Given the description of an element on the screen output the (x, y) to click on. 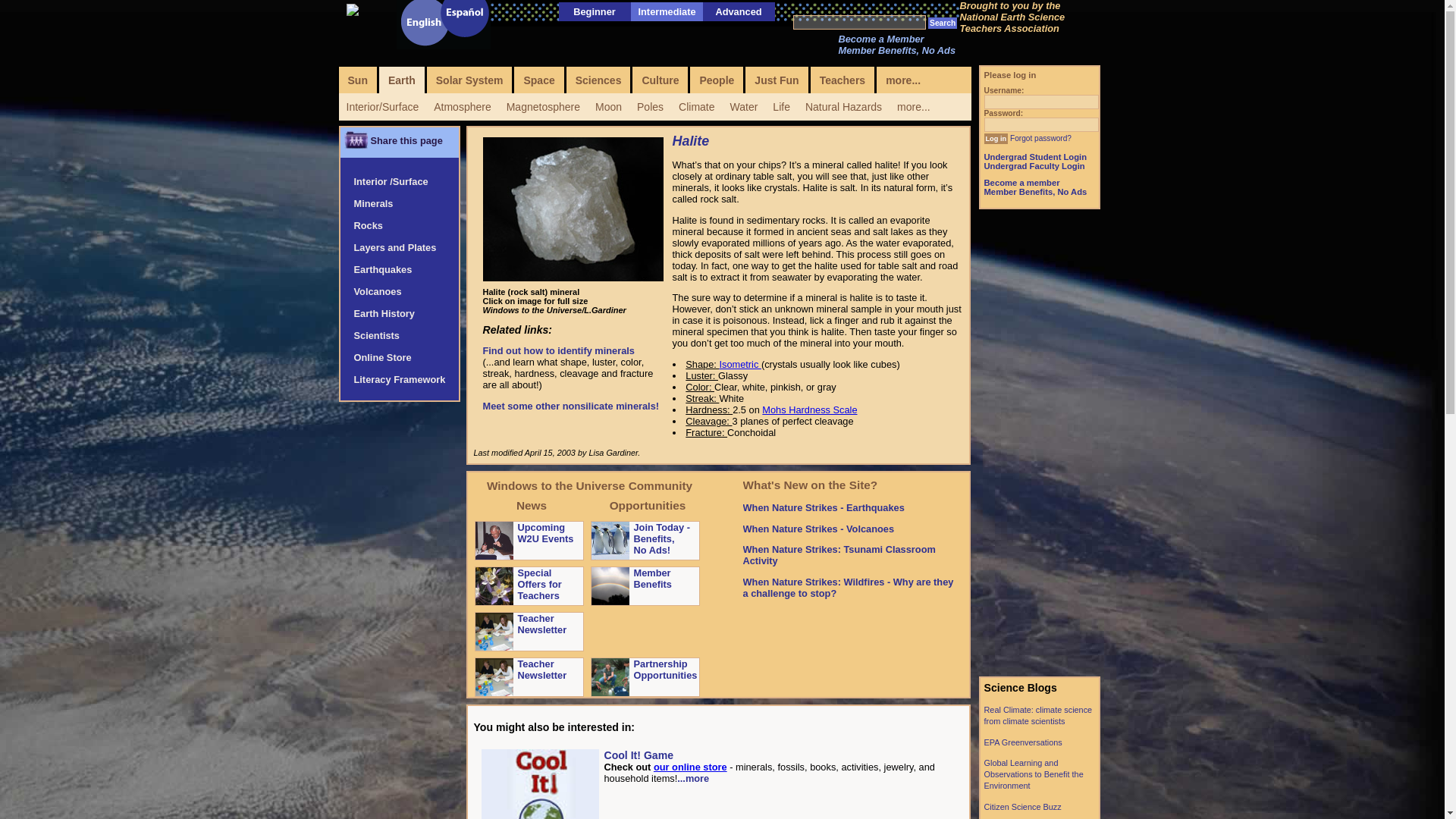
Earth (401, 80)
Beginner (593, 11)
Log in (996, 138)
Moon (608, 106)
Magnetosphere (543, 106)
Search (942, 22)
more... (913, 106)
Member Benefits, No Ads (897, 50)
Water (743, 106)
Advertisement (1038, 442)
Advanced (737, 11)
Search (942, 22)
Poles (649, 106)
Become a Member (881, 39)
